Given the description of an element on the screen output the (x, y) to click on. 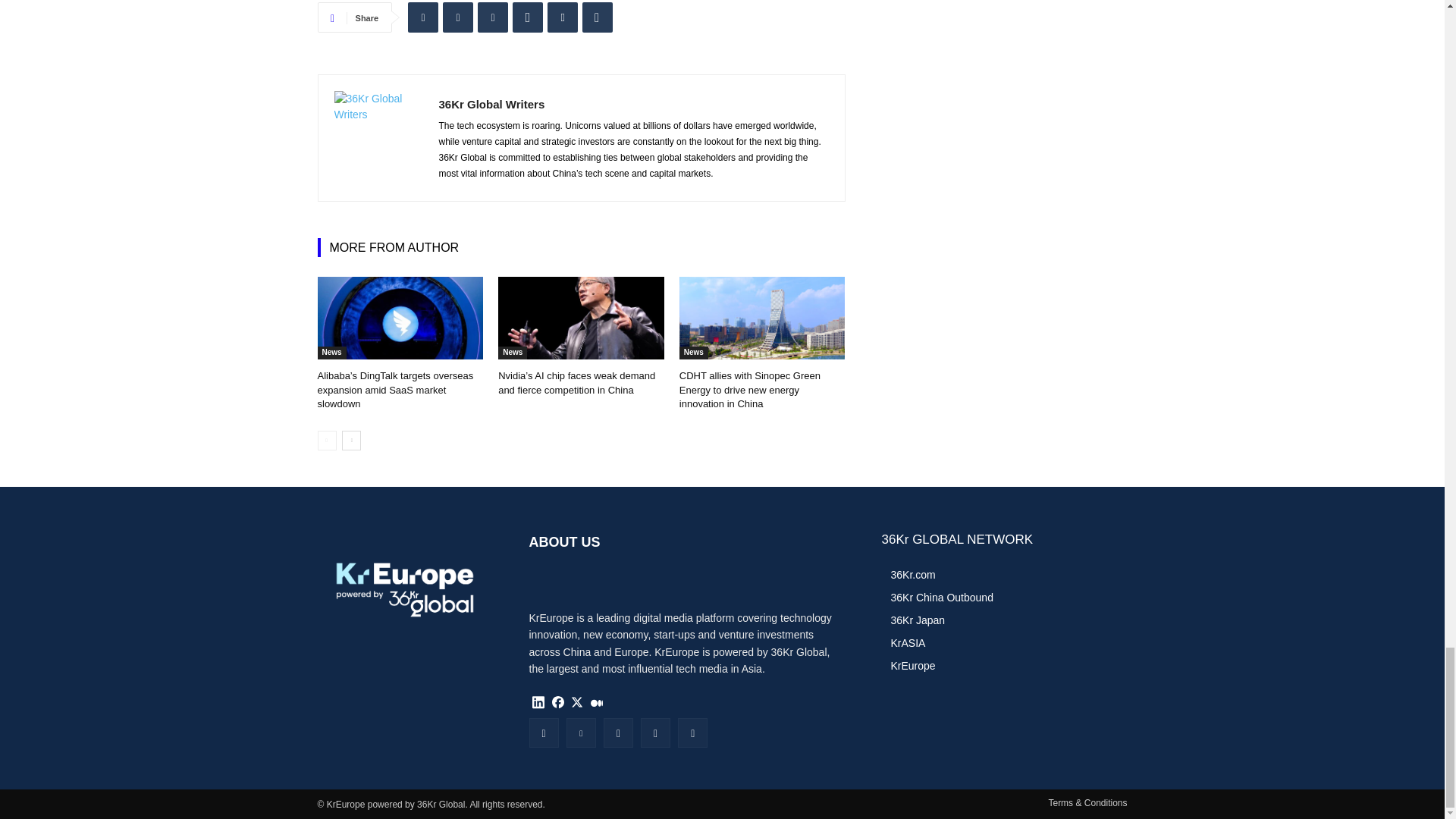
Facebook (492, 17)
Linkedin (422, 17)
WhatsApp (527, 17)
Twitter (457, 17)
36Kr Global Writers (377, 137)
Email (562, 17)
Copy URL (597, 17)
